Given the description of an element on the screen output the (x, y) to click on. 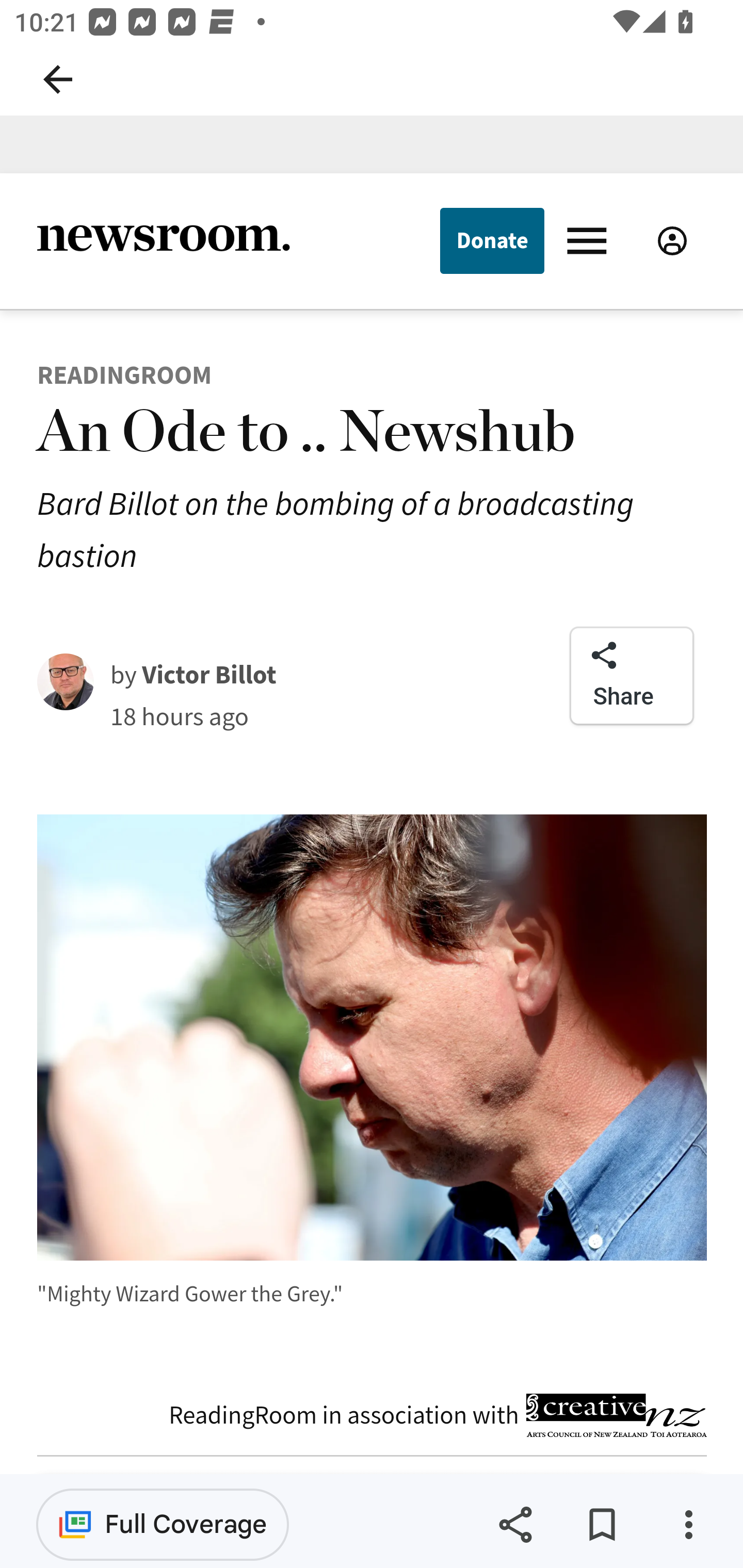
Navigate up (57, 79)
Newsroom (163, 240)
Donate (491, 240)
Sign In (672, 240)
Menu (590, 239)
READINGROOM (124, 374)
Share  Share (631, 675)
Victor Billot (209, 673)
Share (514, 1524)
Save for later (601, 1524)
More options (688, 1524)
Full Coverage (162, 1524)
